Given the description of an element on the screen output the (x, y) to click on. 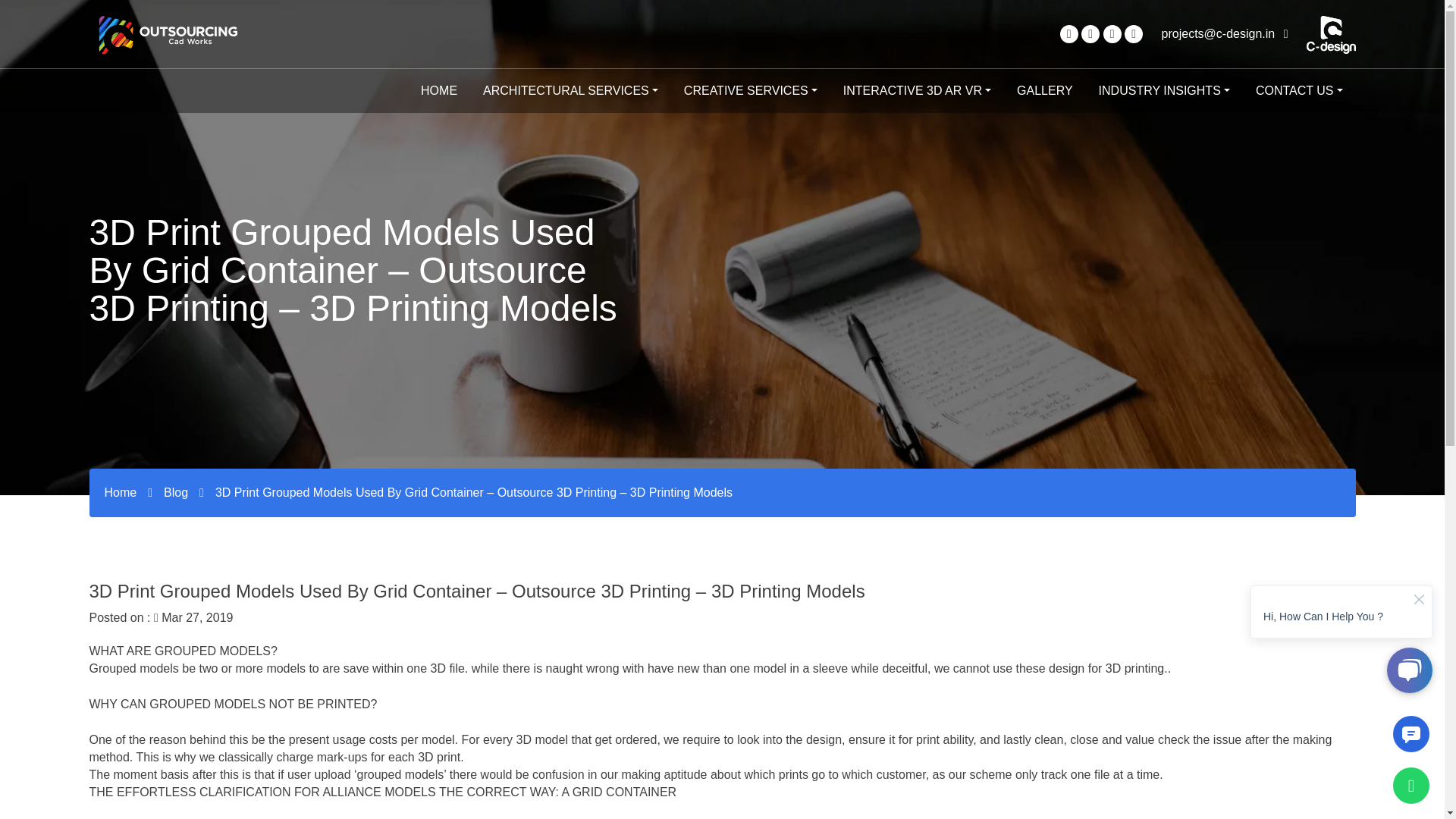
INTERACTIVE 3D AR VR (916, 90)
CREATIVE SERVICES (750, 90)
ARCHITECTURAL SERVICES (570, 90)
HOME (438, 90)
